Given the description of an element on the screen output the (x, y) to click on. 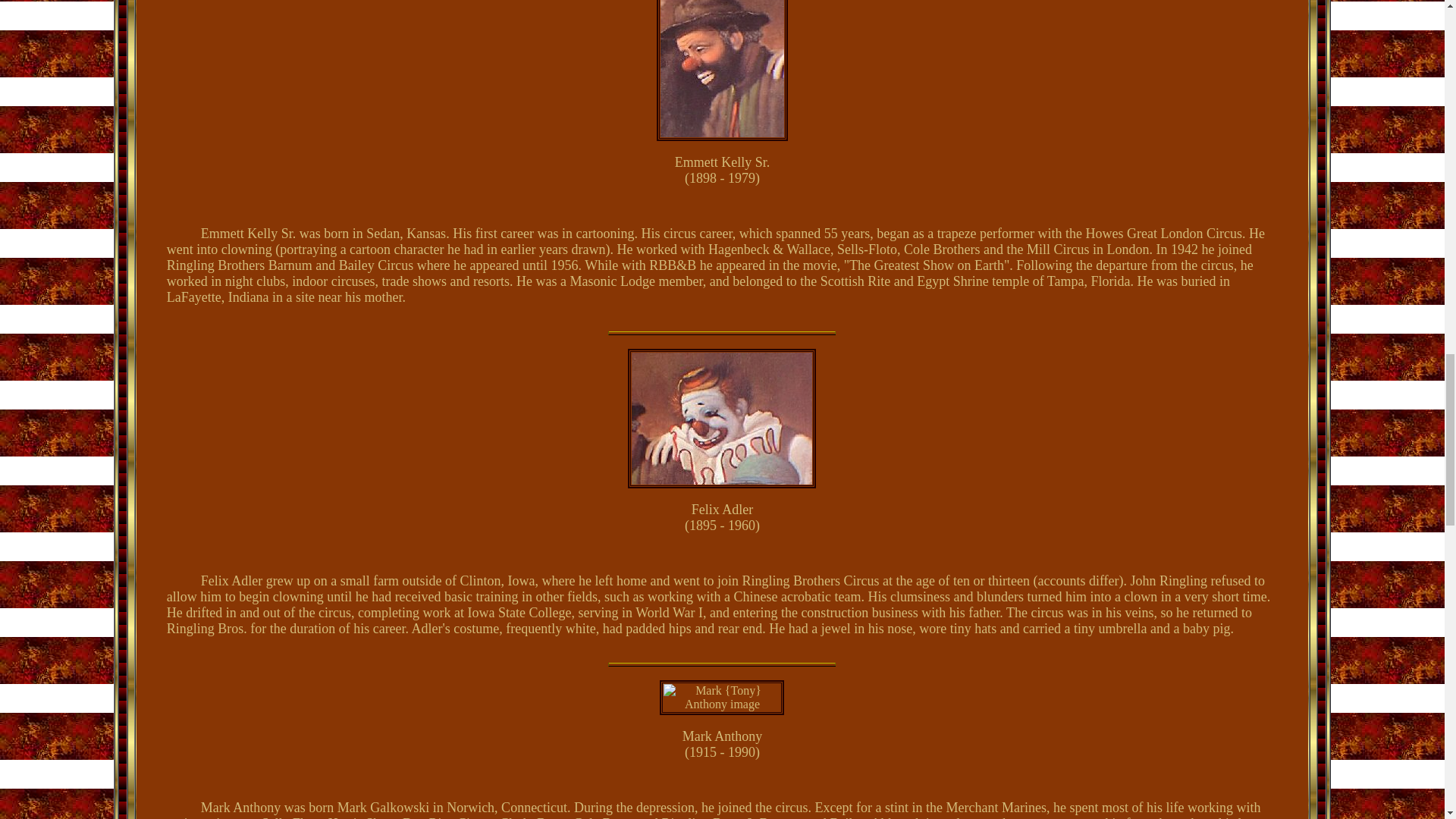
Felix Adler (721, 418)
Emmett Kelly Sr. (722, 68)
Divider line between images and statements (721, 664)
Divider line between images and statements (721, 332)
